Given the description of an element on the screen output the (x, y) to click on. 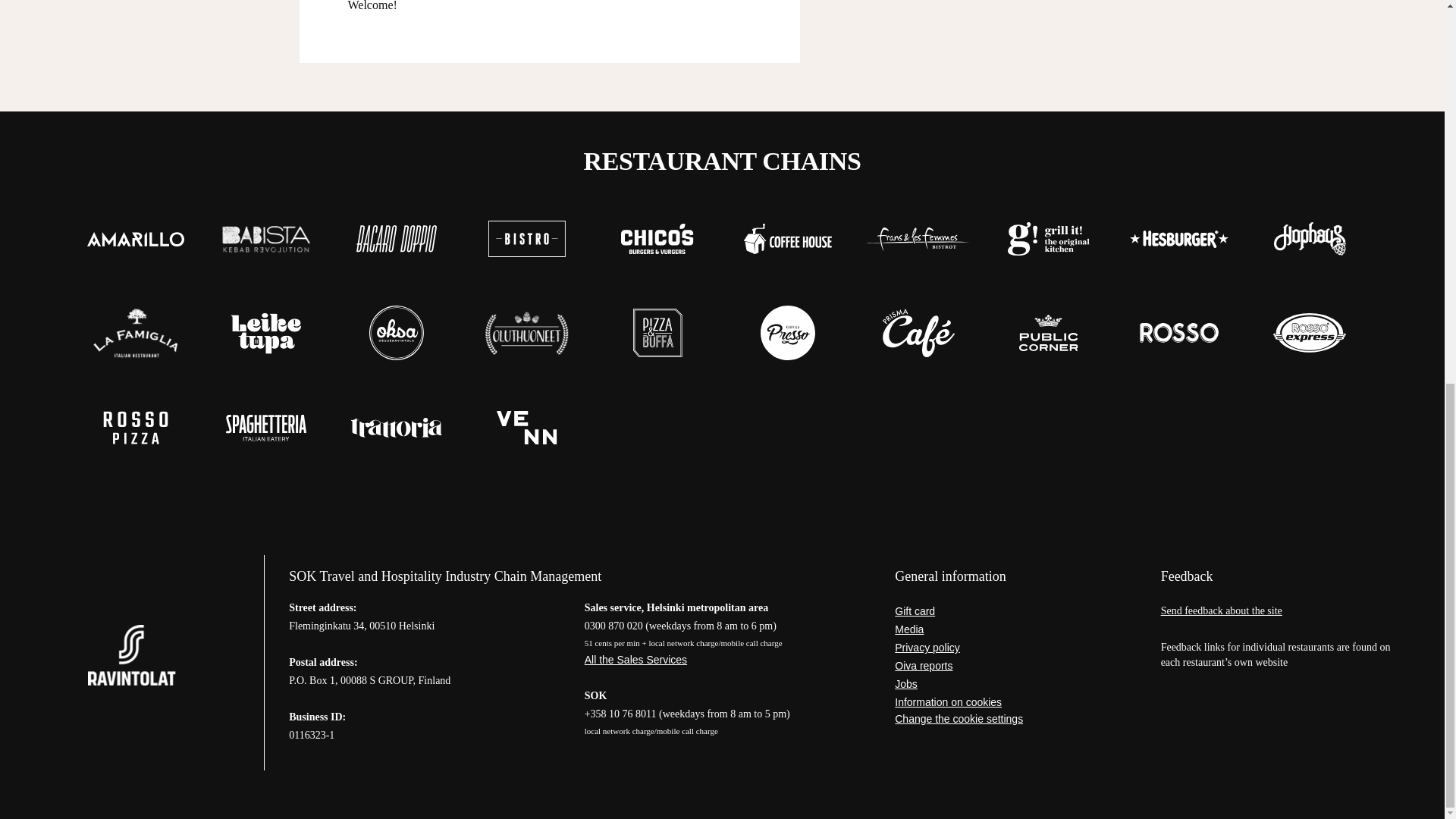
Media (1016, 629)
Privacy policy (1016, 647)
Jobs (1016, 683)
Gift card (1016, 611)
Oiva reports (1016, 665)
Change the cookie settings (1016, 718)
Information on cookies (1016, 702)
All the Sales Services (722, 659)
